Given the description of an element on the screen output the (x, y) to click on. 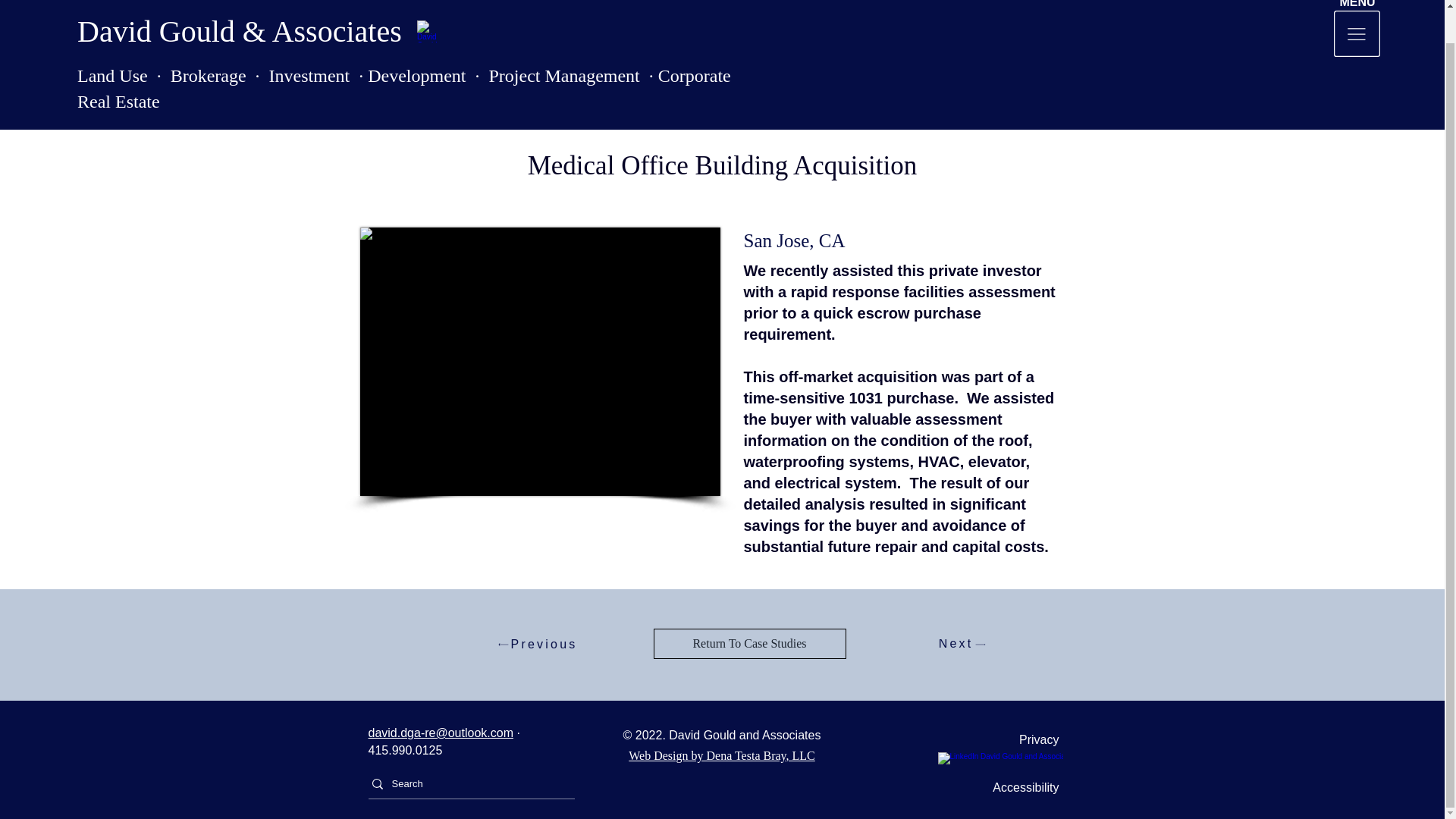
MENU (1356, 4)
Previous (537, 643)
Next (962, 643)
Return To Case Studies (749, 643)
Web Design by Dena Testa Bray, LLC (721, 755)
Privacy (1004, 739)
Accessibility (1004, 787)
